Given the description of an element on the screen output the (x, y) to click on. 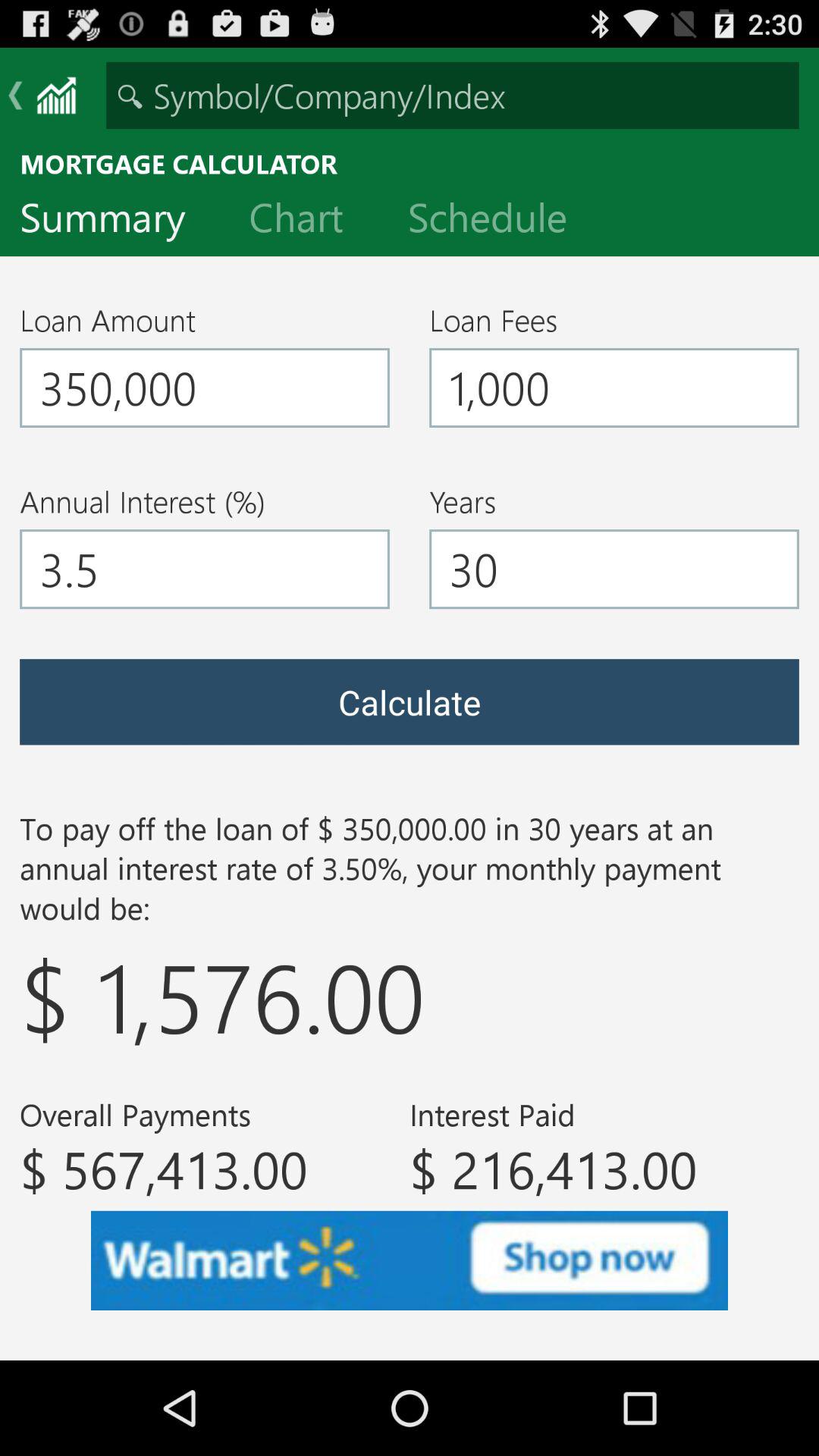
enter either symbol company or index (452, 95)
